Given the description of an element on the screen output the (x, y) to click on. 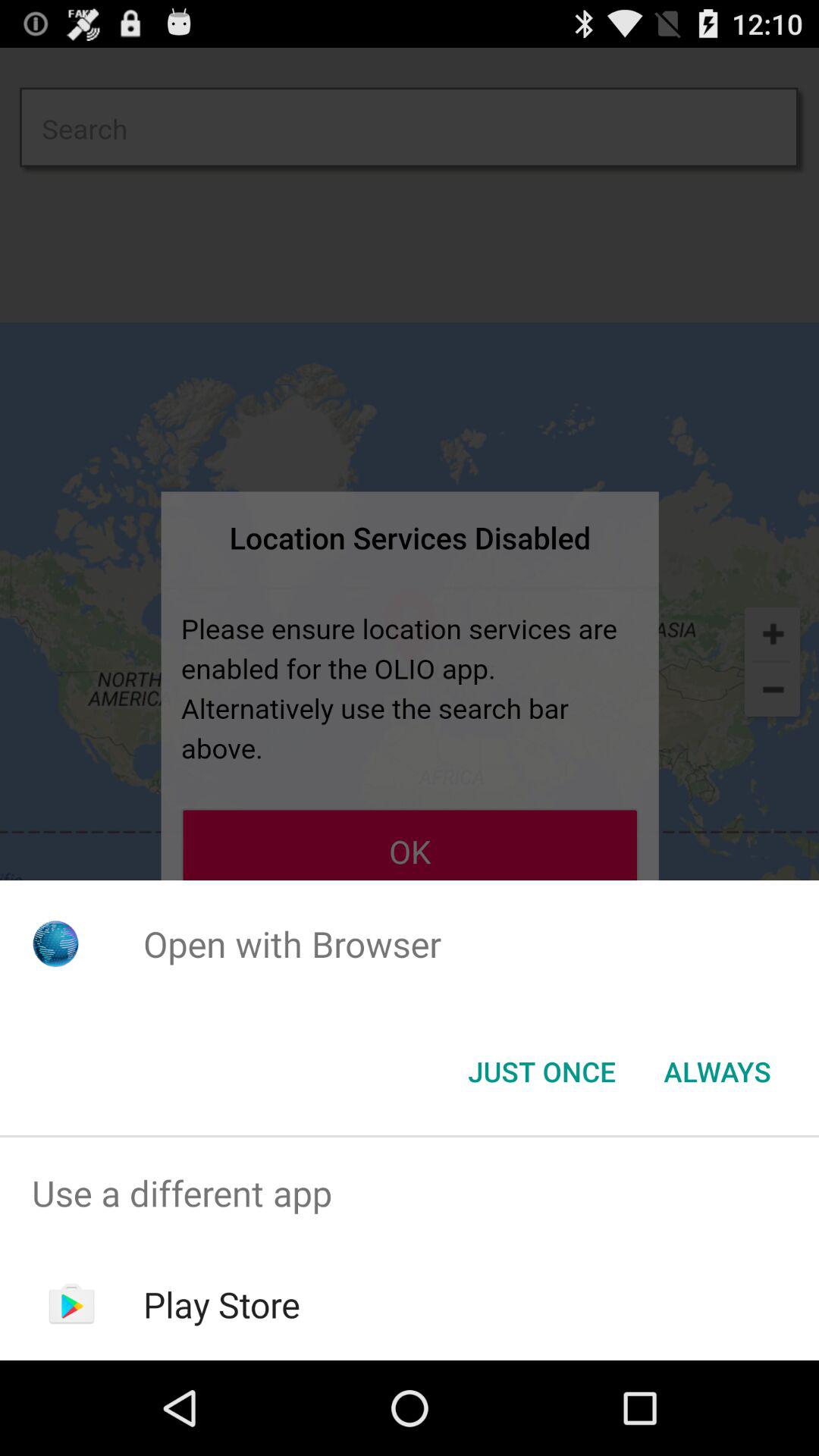
turn on item next to just once item (717, 1071)
